Given the description of an element on the screen output the (x, y) to click on. 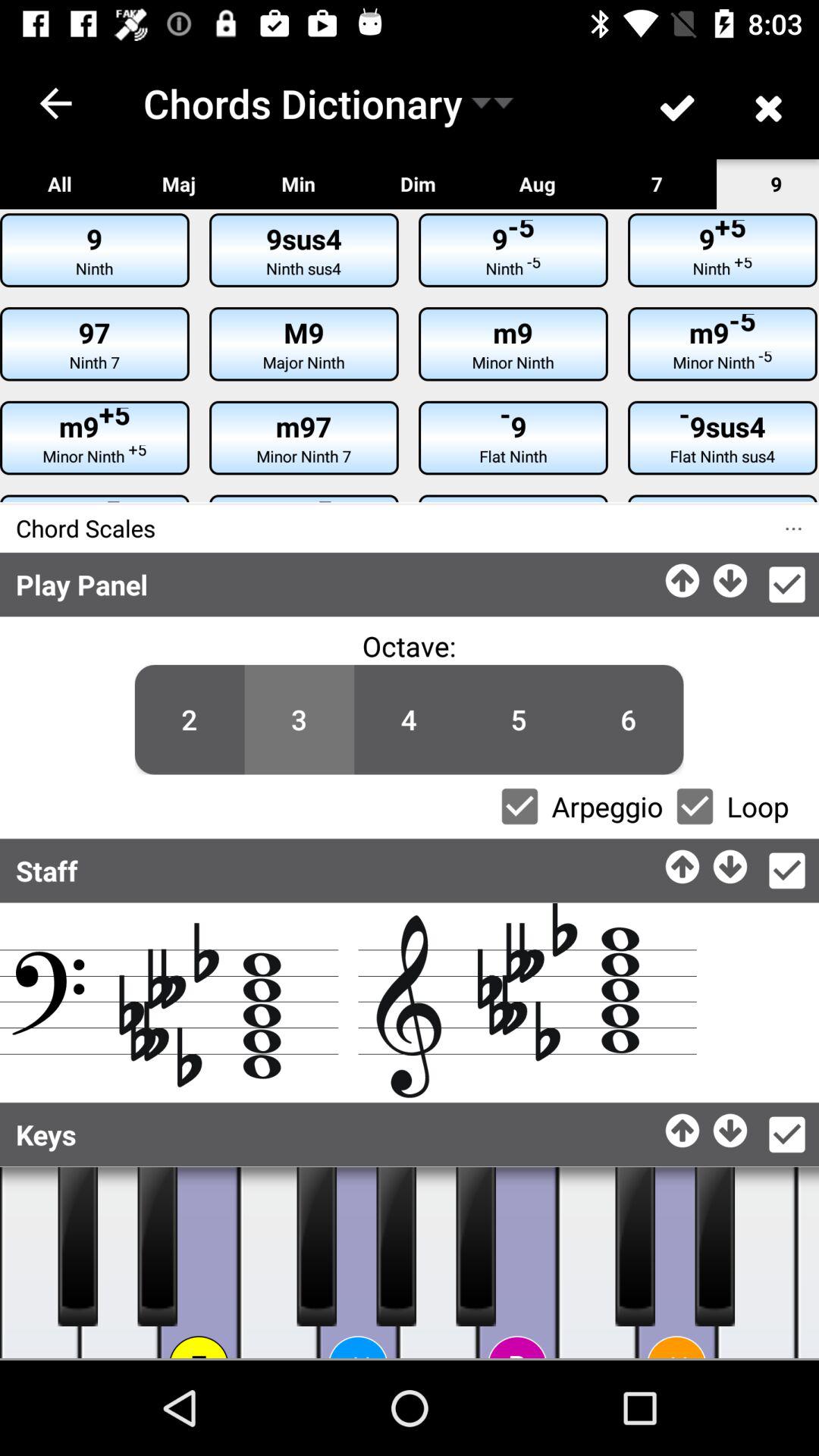
loop (694, 806)
